Given the description of an element on the screen output the (x, y) to click on. 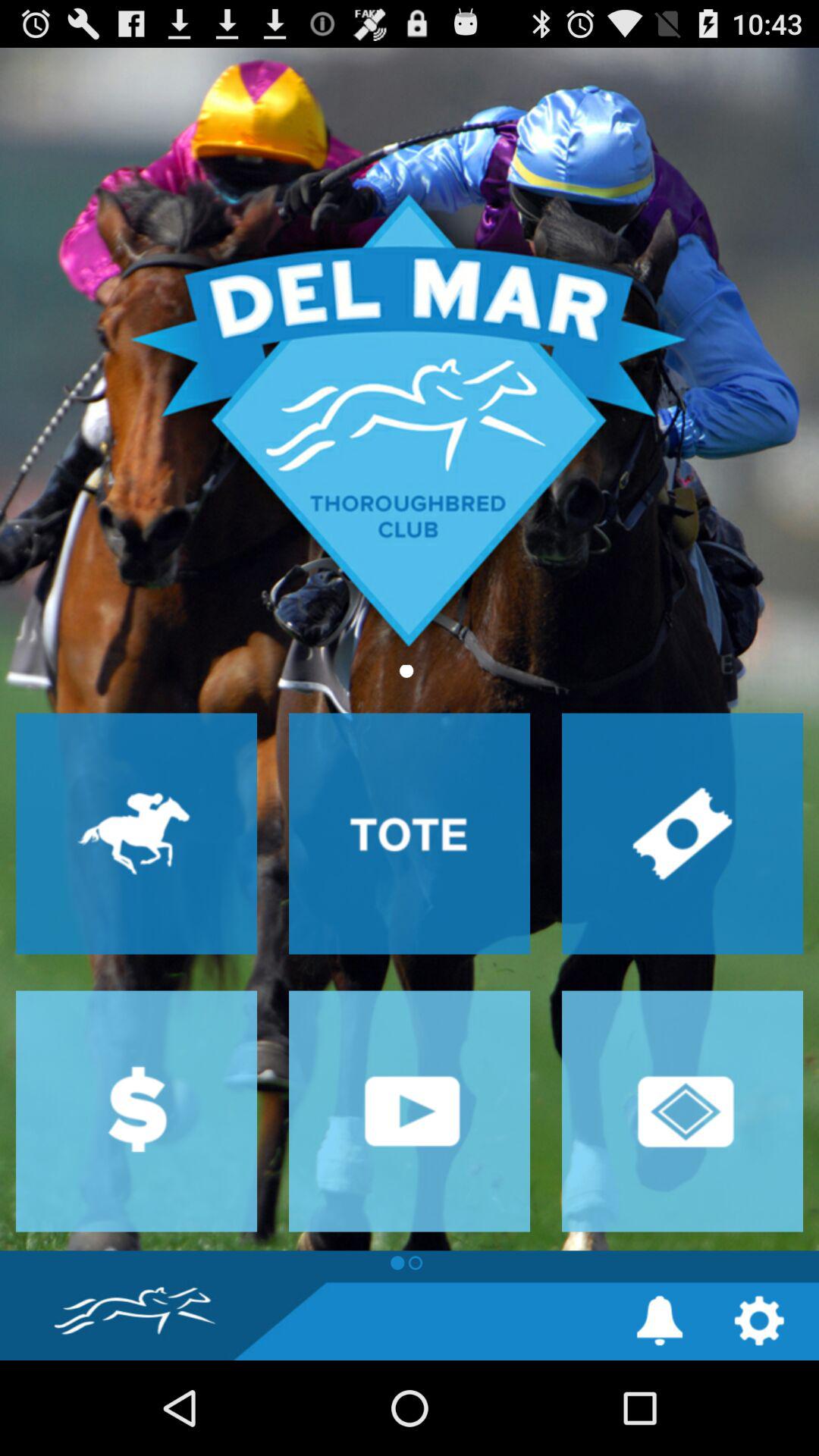
view races (136, 833)
